Given the description of an element on the screen output the (x, y) to click on. 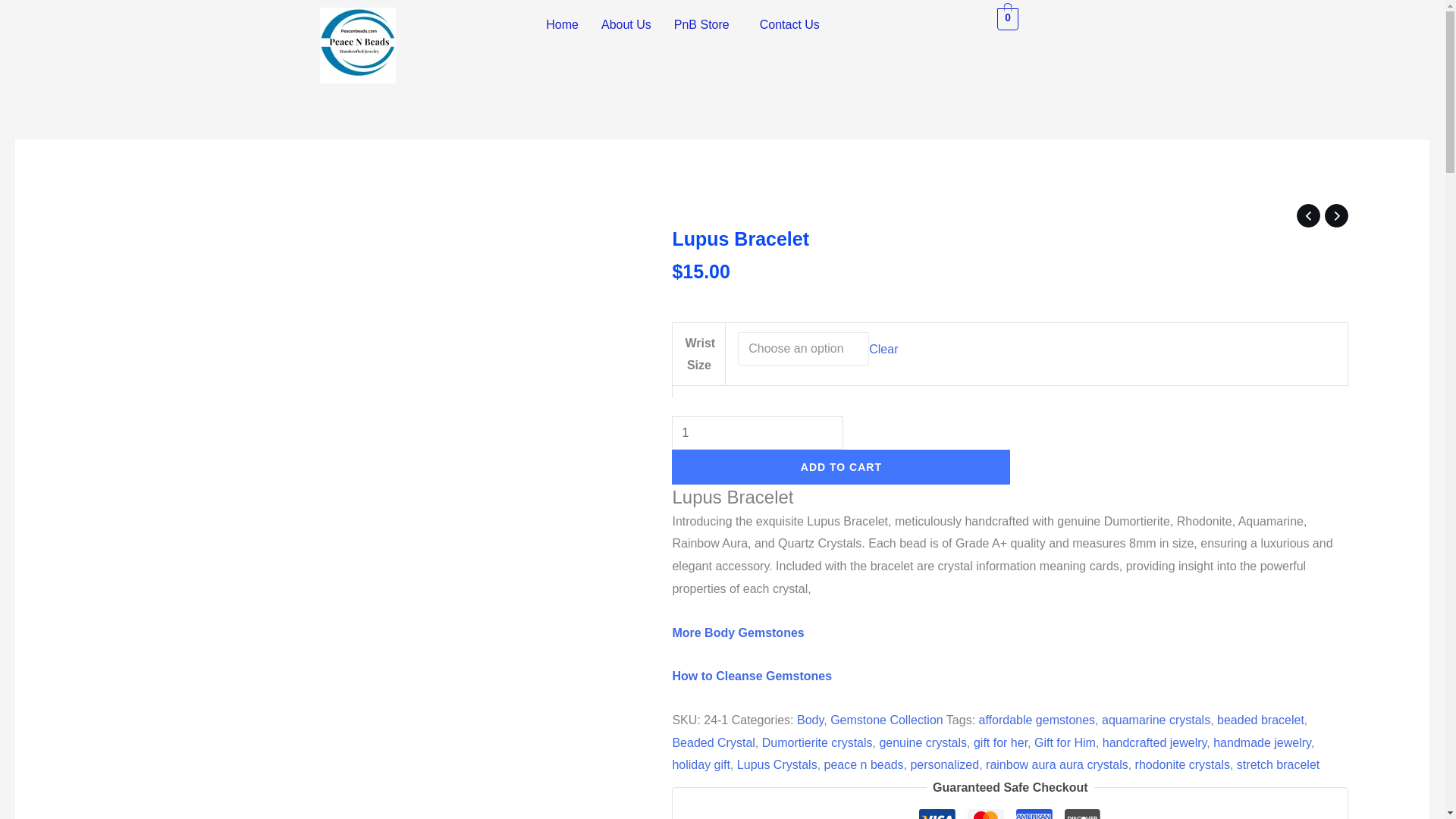
PnB Store (705, 24)
Beaded Crystal (712, 742)
Clear (883, 348)
genuine crystals (922, 742)
How to Cleanse Gemstones (751, 675)
holiday gift (700, 764)
0 (1008, 18)
More Body Gemstones (737, 632)
aquamarine crystals (1155, 719)
Contact Us (789, 24)
